Given the description of an element on the screen output the (x, y) to click on. 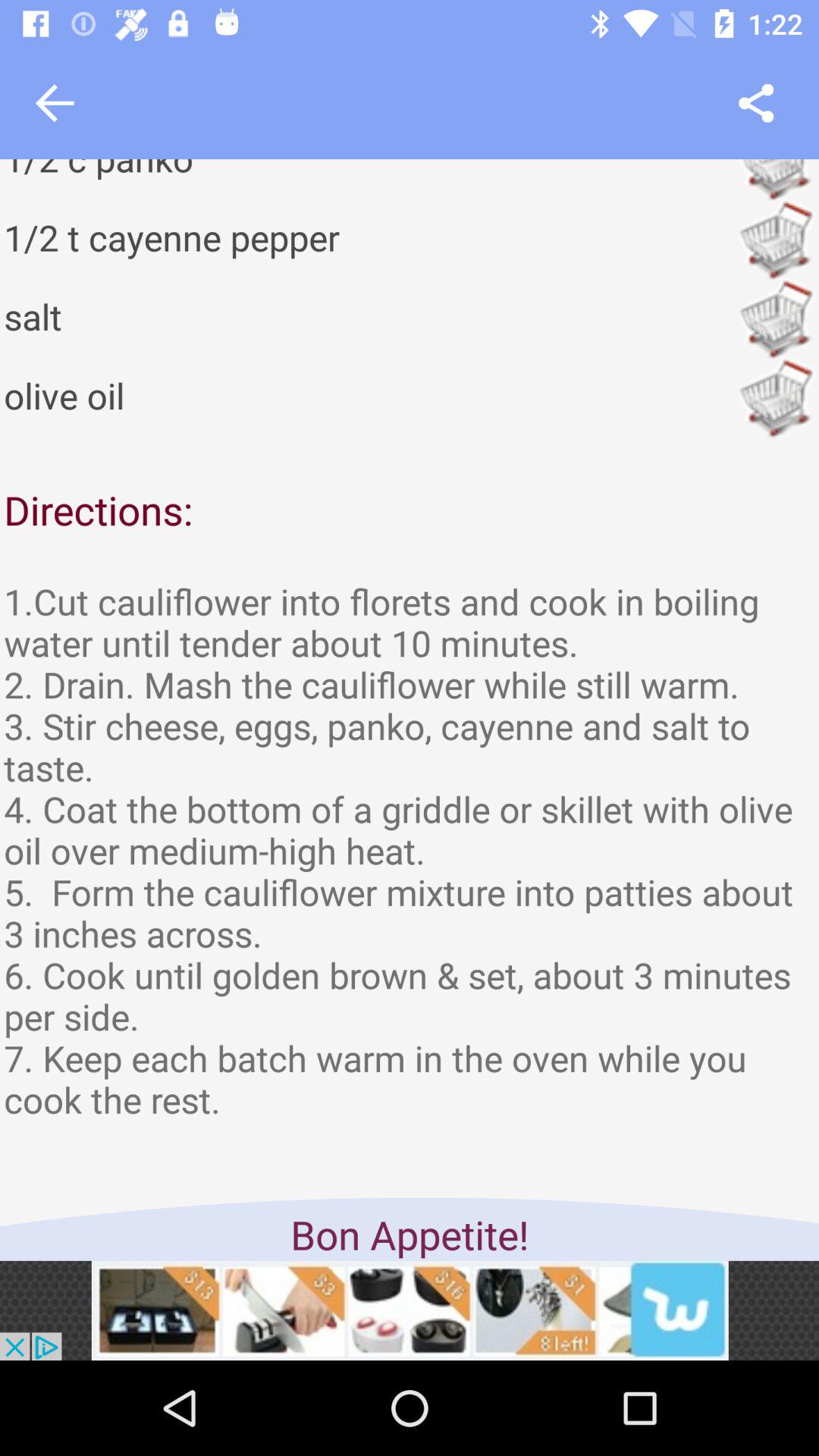
share the article (756, 103)
